Given the description of an element on the screen output the (x, y) to click on. 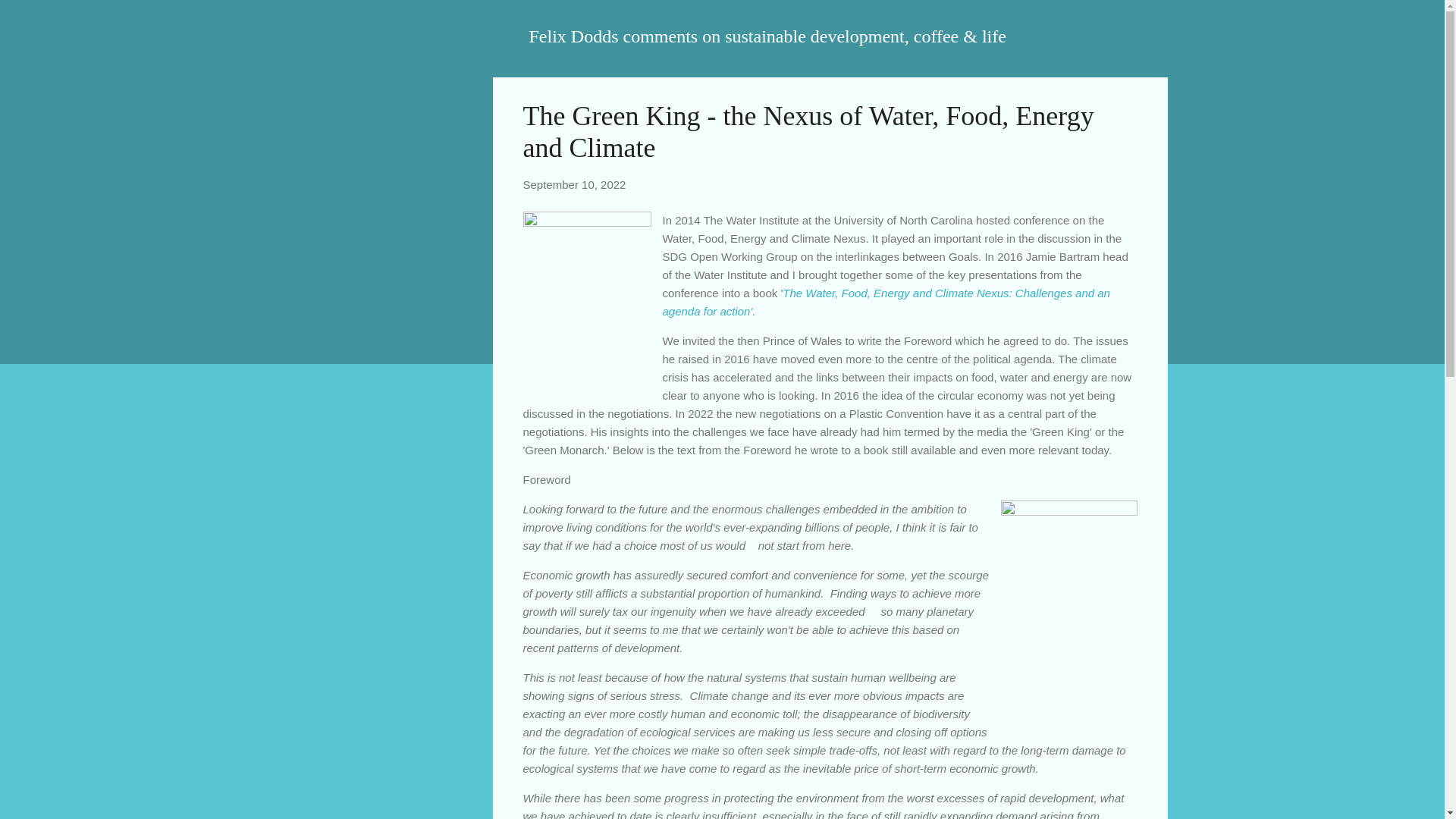
September 10, 2022 (574, 184)
permanent link (574, 184)
Search (29, 18)
